Given the description of an element on the screen output the (x, y) to click on. 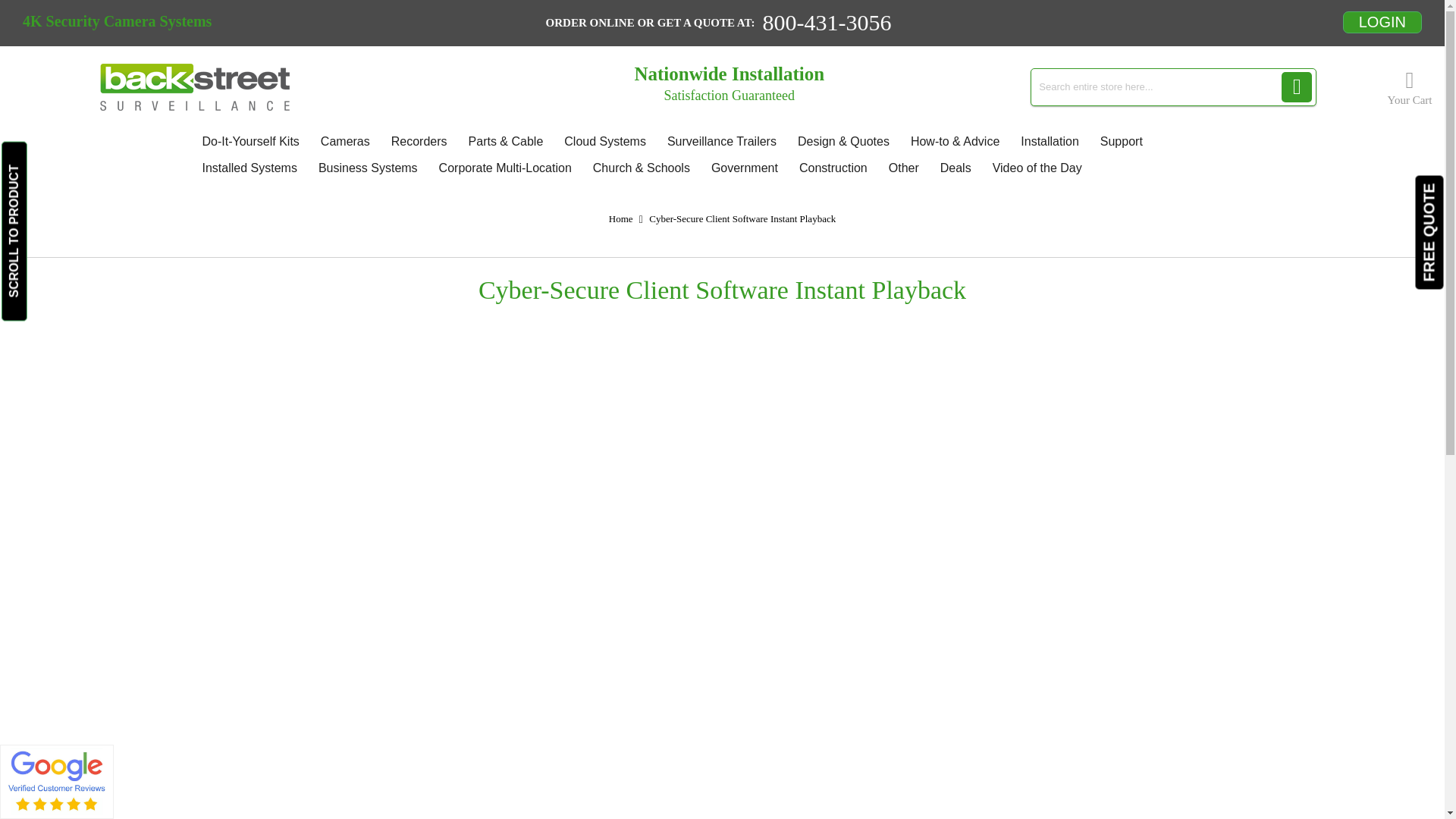
800-431-3056 (826, 22)
Go to Home Page (620, 218)
Do-It-Yourself Kits (249, 141)
Login (1382, 21)
Google Verified Reviews (57, 812)
LOGIN (1382, 22)
Your Cart (1409, 87)
Search (1296, 87)
Google Verified Reviews (57, 779)
